Given the description of an element on the screen output the (x, y) to click on. 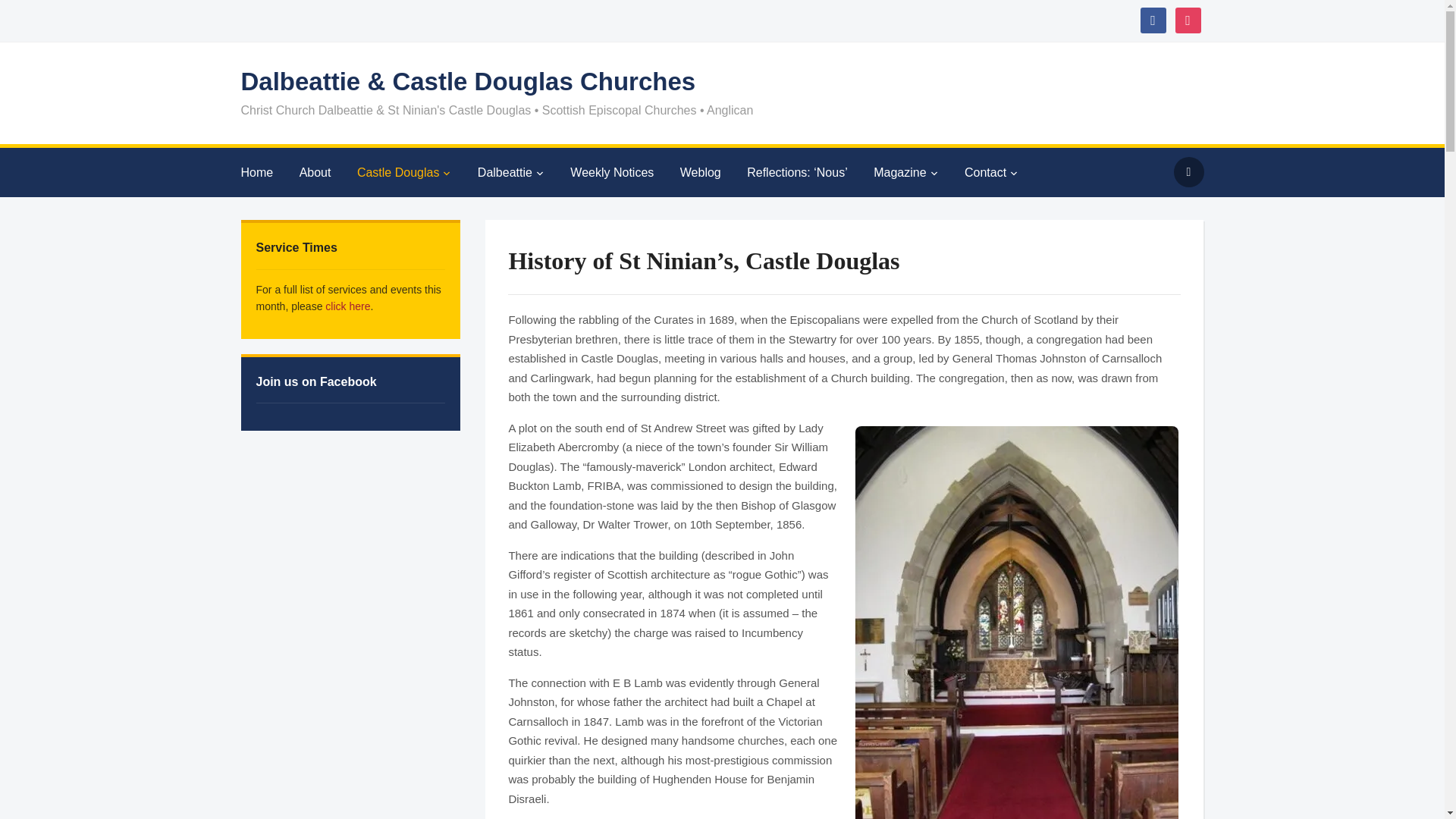
instagram (1187, 19)
facebook (1153, 19)
Facebook (1153, 19)
Instagram (1187, 19)
